Given the description of an element on the screen output the (x, y) to click on. 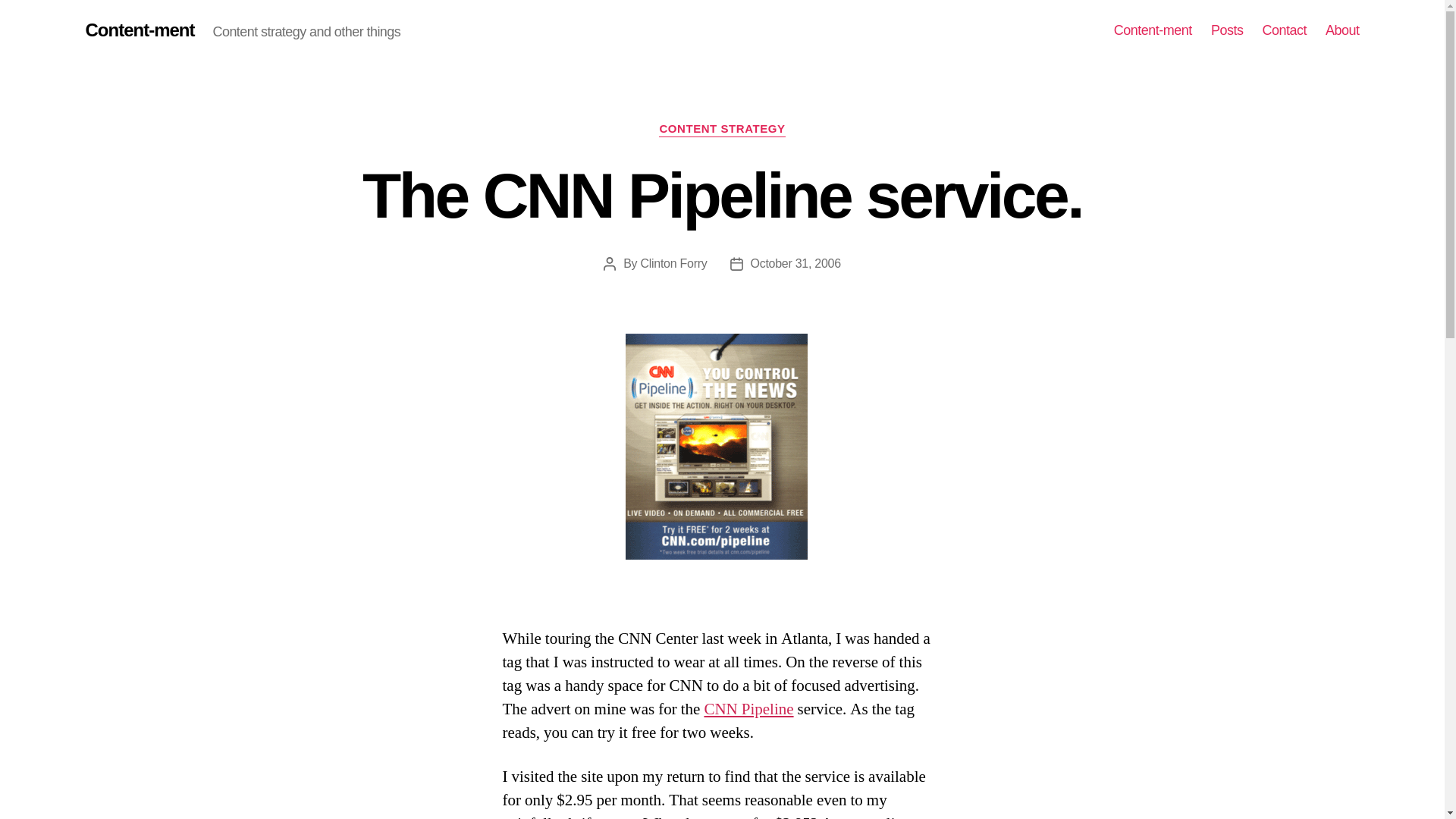
Clinton Forry (673, 263)
October 31, 2006 (796, 263)
CNN Pipeline (748, 709)
Content-ment (1152, 30)
Posts (1227, 30)
CONTENT STRATEGY (721, 129)
About (1341, 30)
Content-ment (138, 30)
Contact (1284, 30)
